Given the description of an element on the screen output the (x, y) to click on. 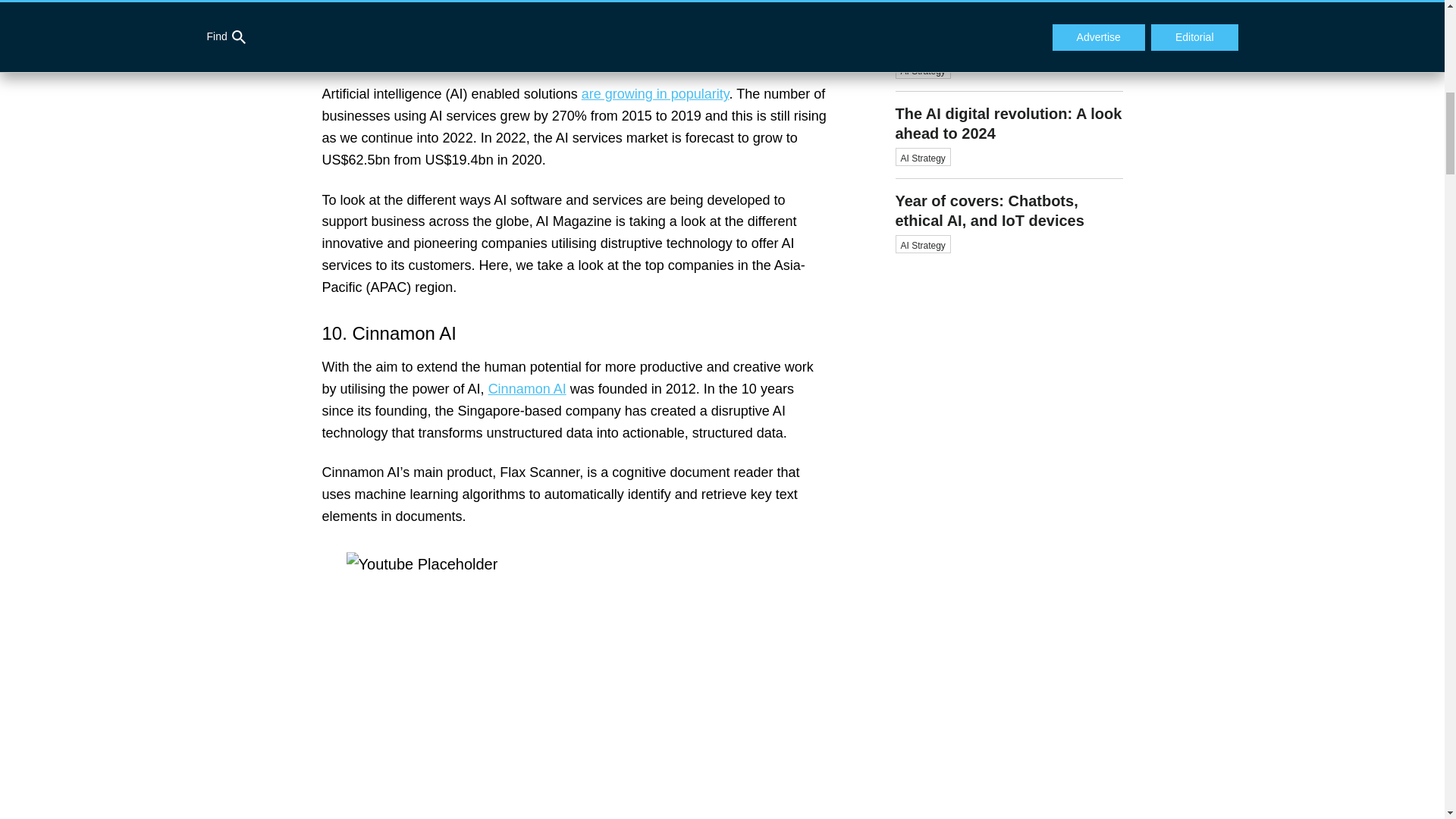
Cinnamon AI (526, 388)
are growing in popularity (654, 93)
